Given the description of an element on the screen output the (x, y) to click on. 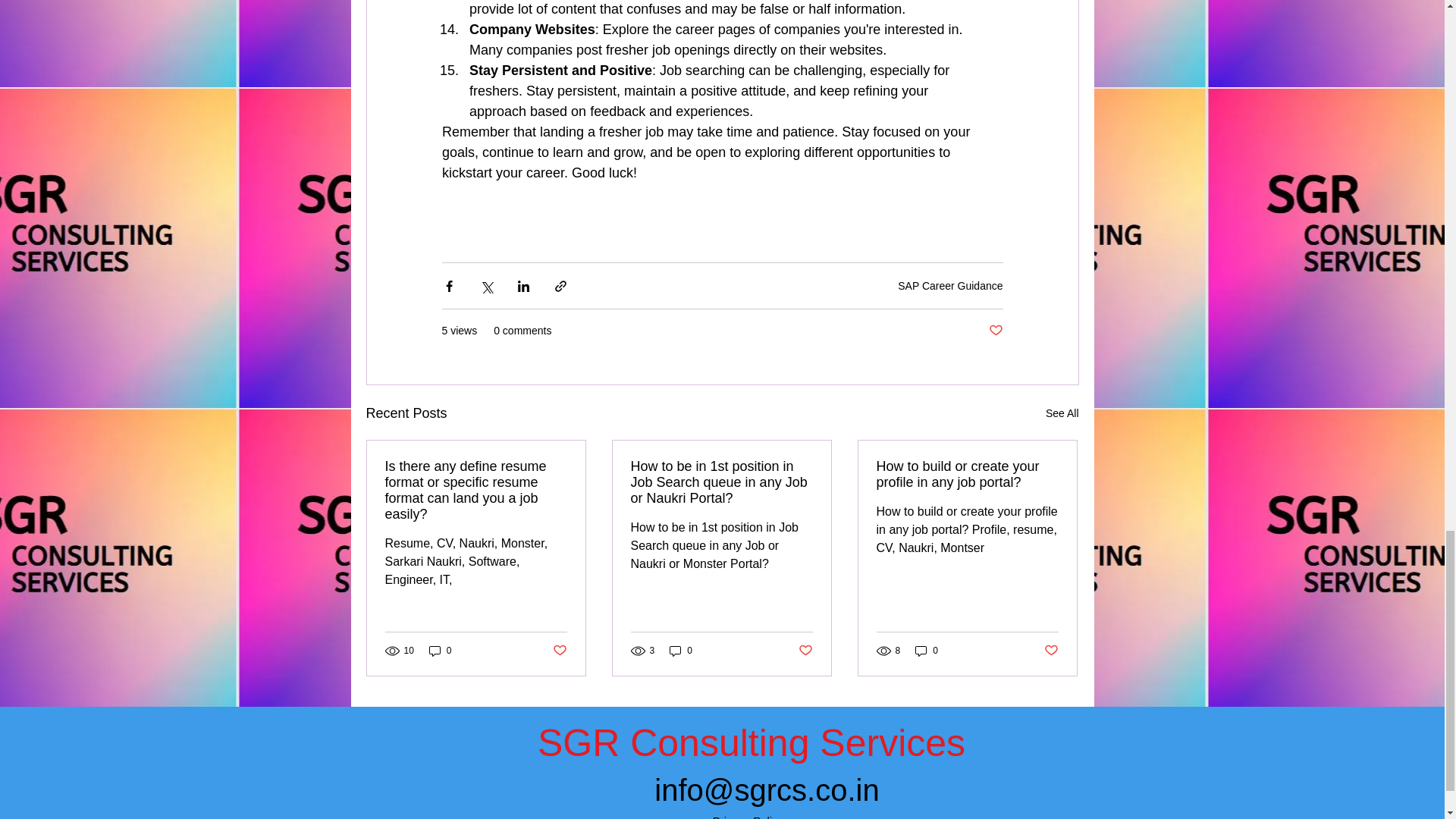
Post not marked as liked (1050, 650)
Post not marked as liked (558, 650)
0 (681, 650)
0 (440, 650)
0 (926, 650)
SAP Career Guidance (950, 285)
How to build or create your profile in any job portal? (967, 474)
Post not marked as liked (995, 330)
Post not marked as liked (804, 650)
Privacy Policy (748, 816)
